Given the description of an element on the screen output the (x, y) to click on. 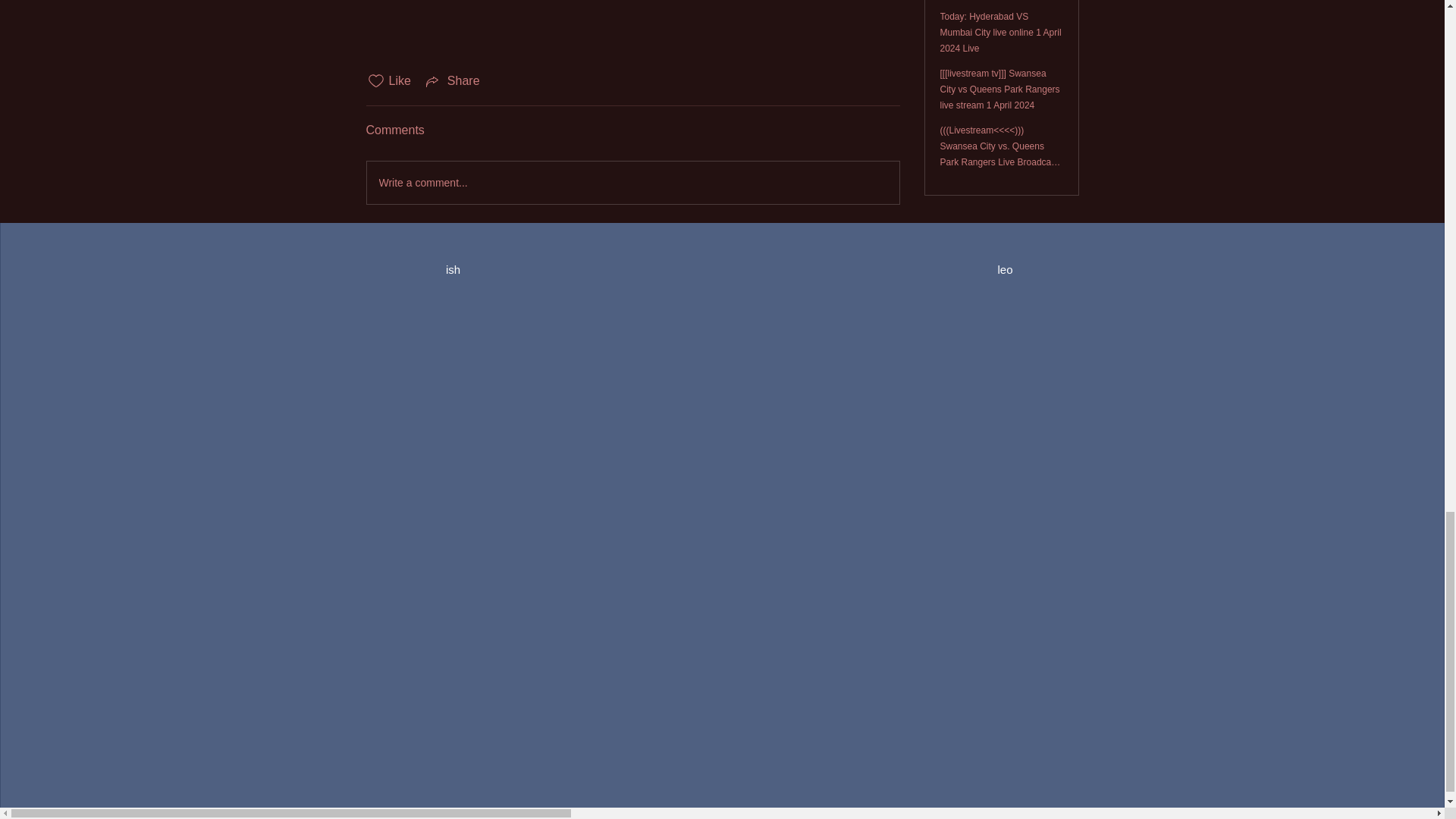
Write a comment... (632, 182)
Share (451, 81)
